Given the description of an element on the screen output the (x, y) to click on. 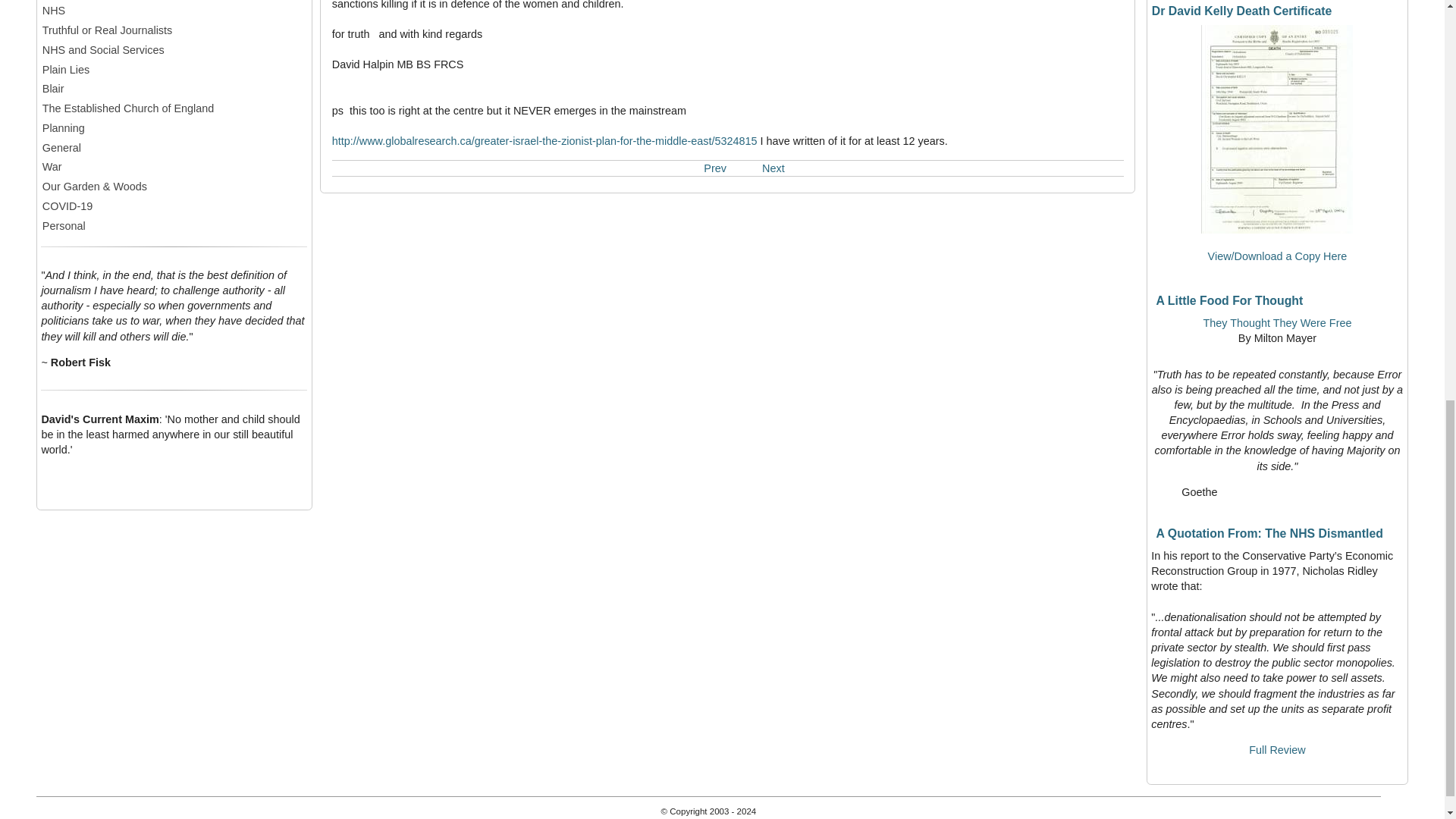
The Established Church of England (174, 108)
NHS (174, 10)
Plain Lies (174, 69)
NHS and Social Services (174, 49)
Planning (174, 127)
Truthful or Real Journalists (174, 30)
War (174, 166)
General (174, 147)
Blair (174, 88)
